Given the description of an element on the screen output the (x, y) to click on. 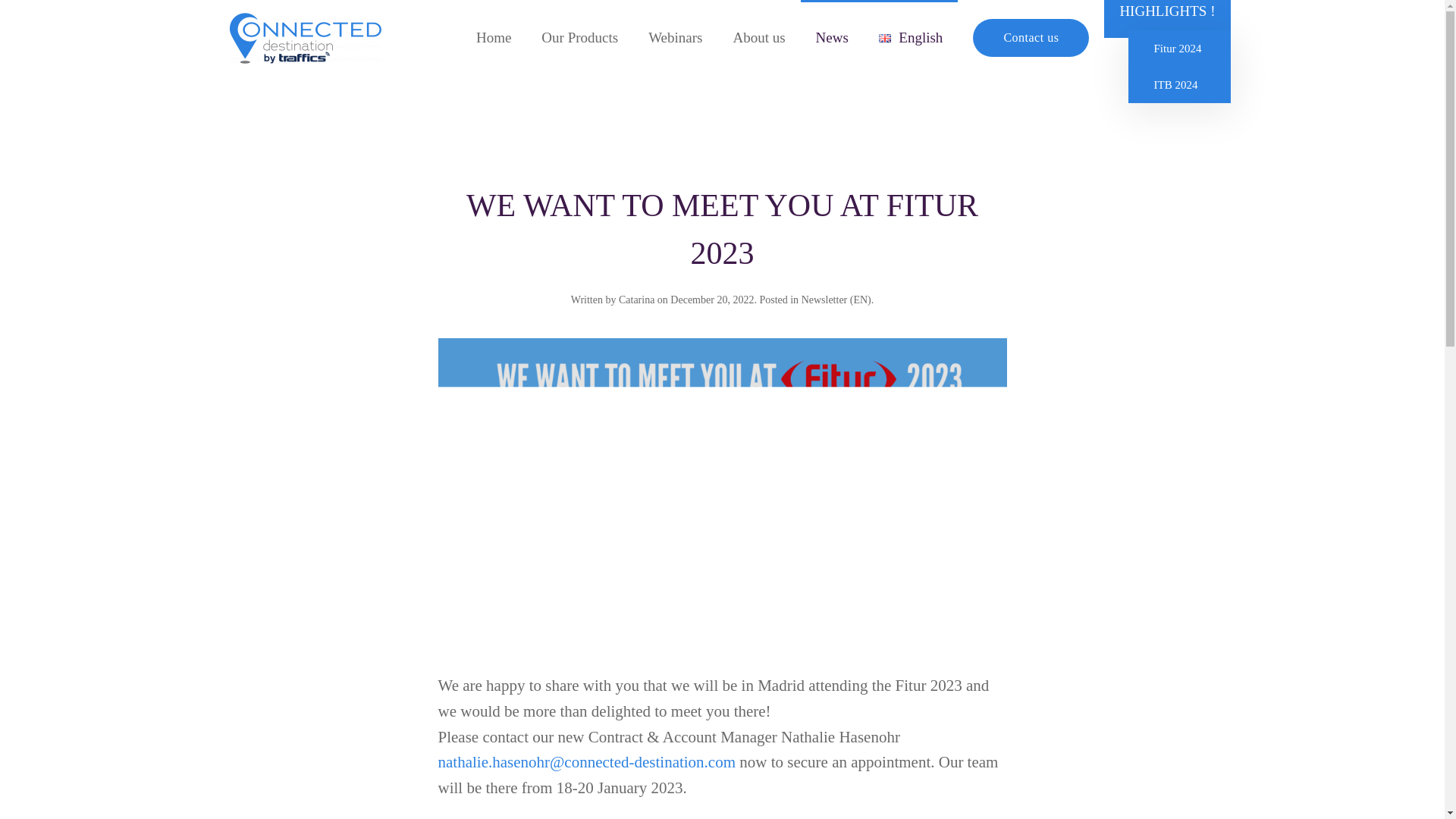
Home (493, 38)
English (910, 38)
ITB 2024 (1179, 84)
HIGHLIGHTS ! (1166, 11)
Catarina (635, 299)
News (831, 38)
Fitur 2024 (1179, 48)
Our Products (579, 38)
Webinars (675, 38)
About us (758, 38)
Contact us (1030, 37)
